Given the description of an element on the screen output the (x, y) to click on. 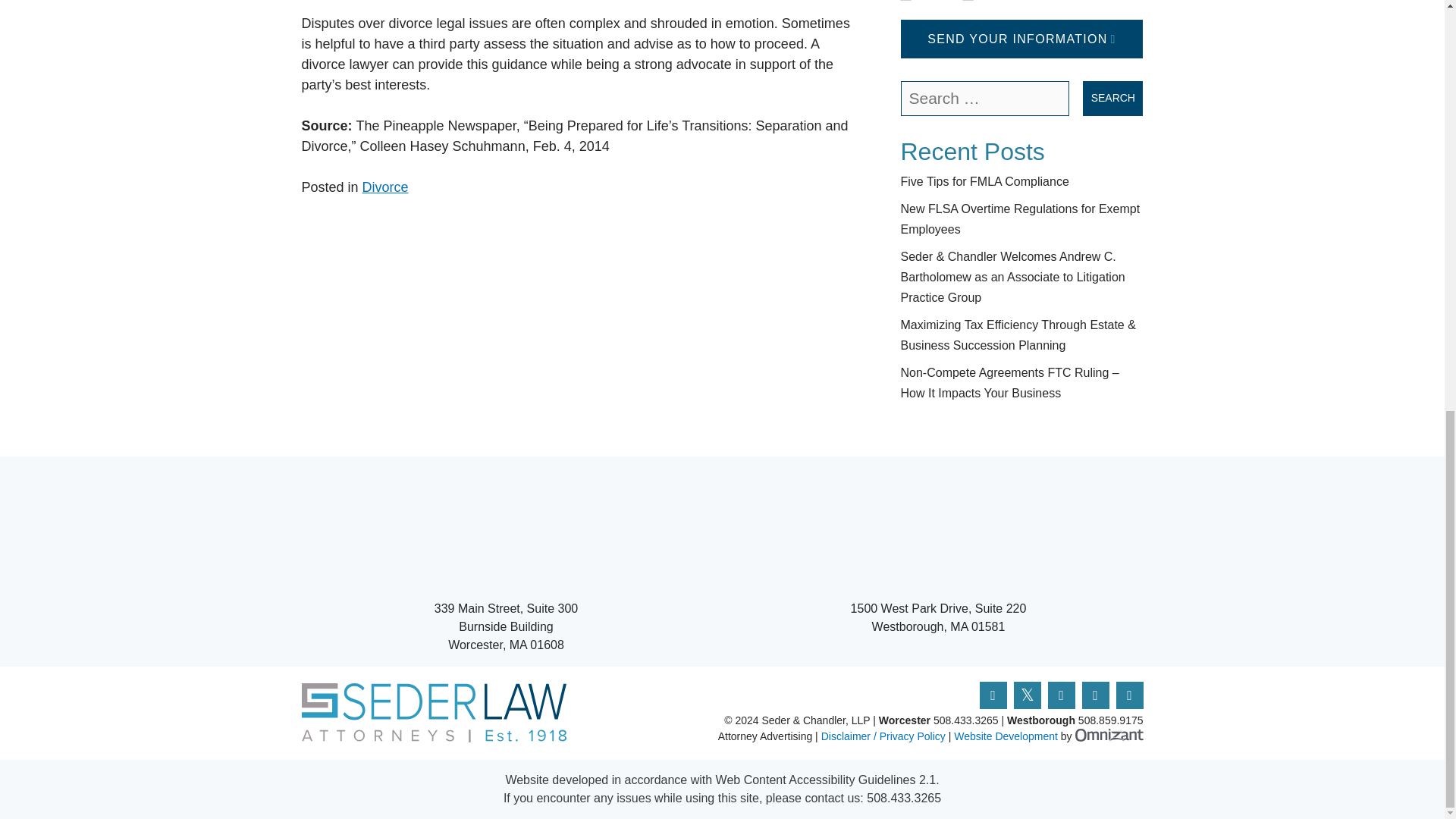
Search (1112, 98)
Search for: (985, 98)
Search (1112, 98)
